Given the description of an element on the screen output the (x, y) to click on. 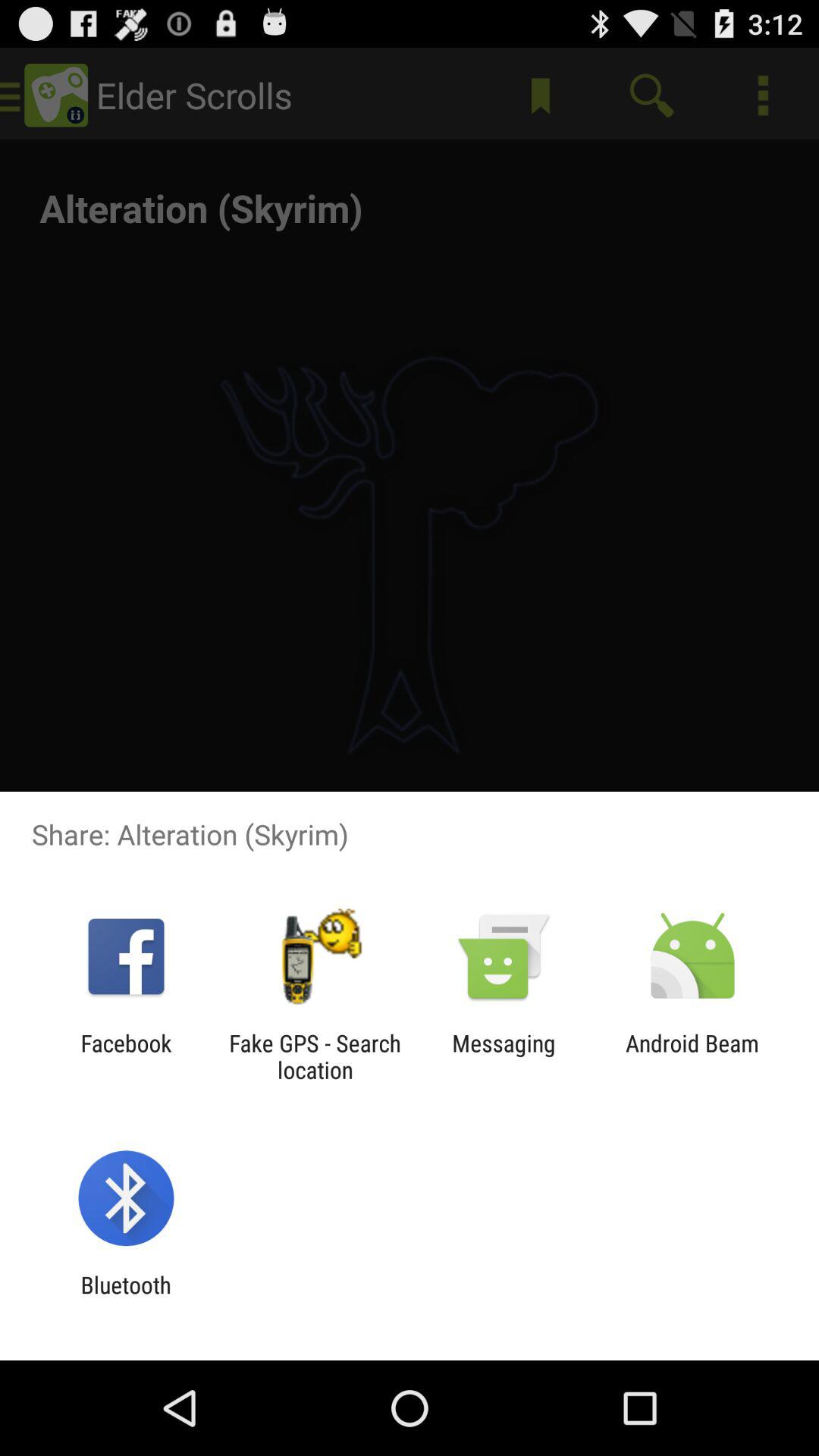
press app next to the android beam app (503, 1056)
